Given the description of an element on the screen output the (x, y) to click on. 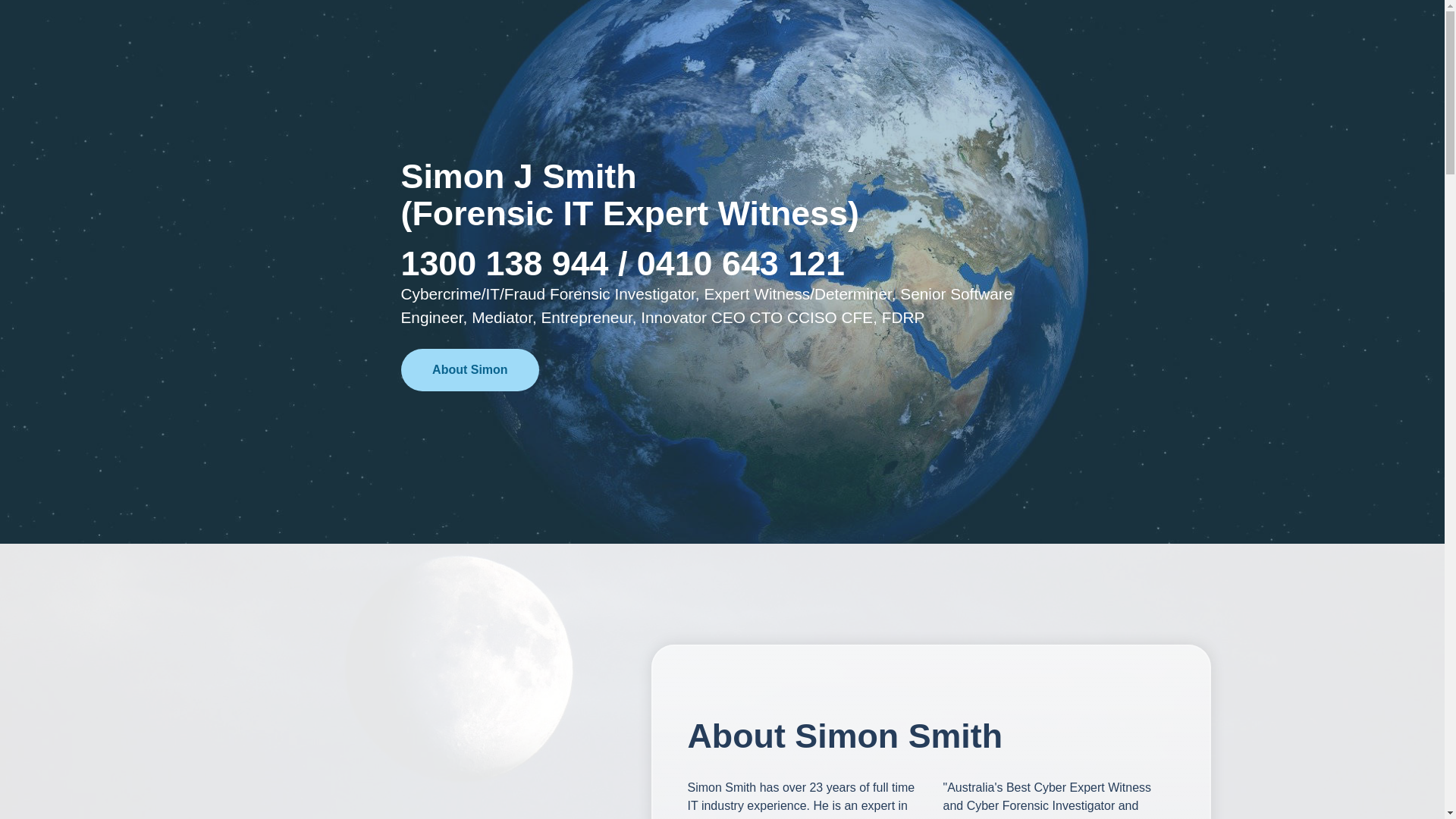
About Simon Element type: text (469, 369)
